Given the description of an element on the screen output the (x, y) to click on. 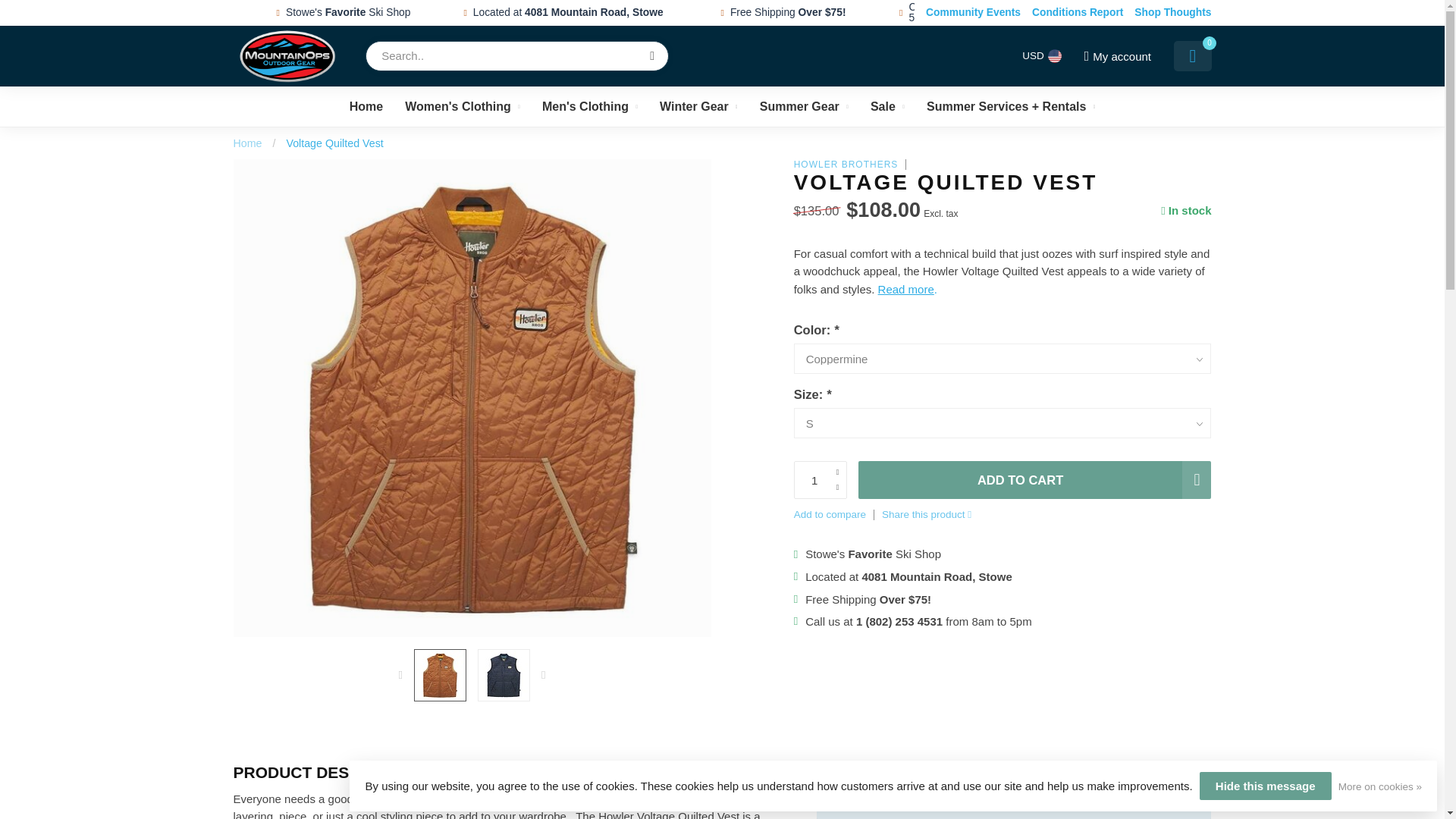
Shop Thoughts (1172, 12)
1 (820, 479)
1 (969, 247)
Men's Clothing (589, 106)
Conditions Report (1077, 12)
0 (1192, 55)
My account (1116, 55)
Home (247, 143)
Community Events (973, 12)
Women's Clothing (461, 106)
